Given the description of an element on the screen output the (x, y) to click on. 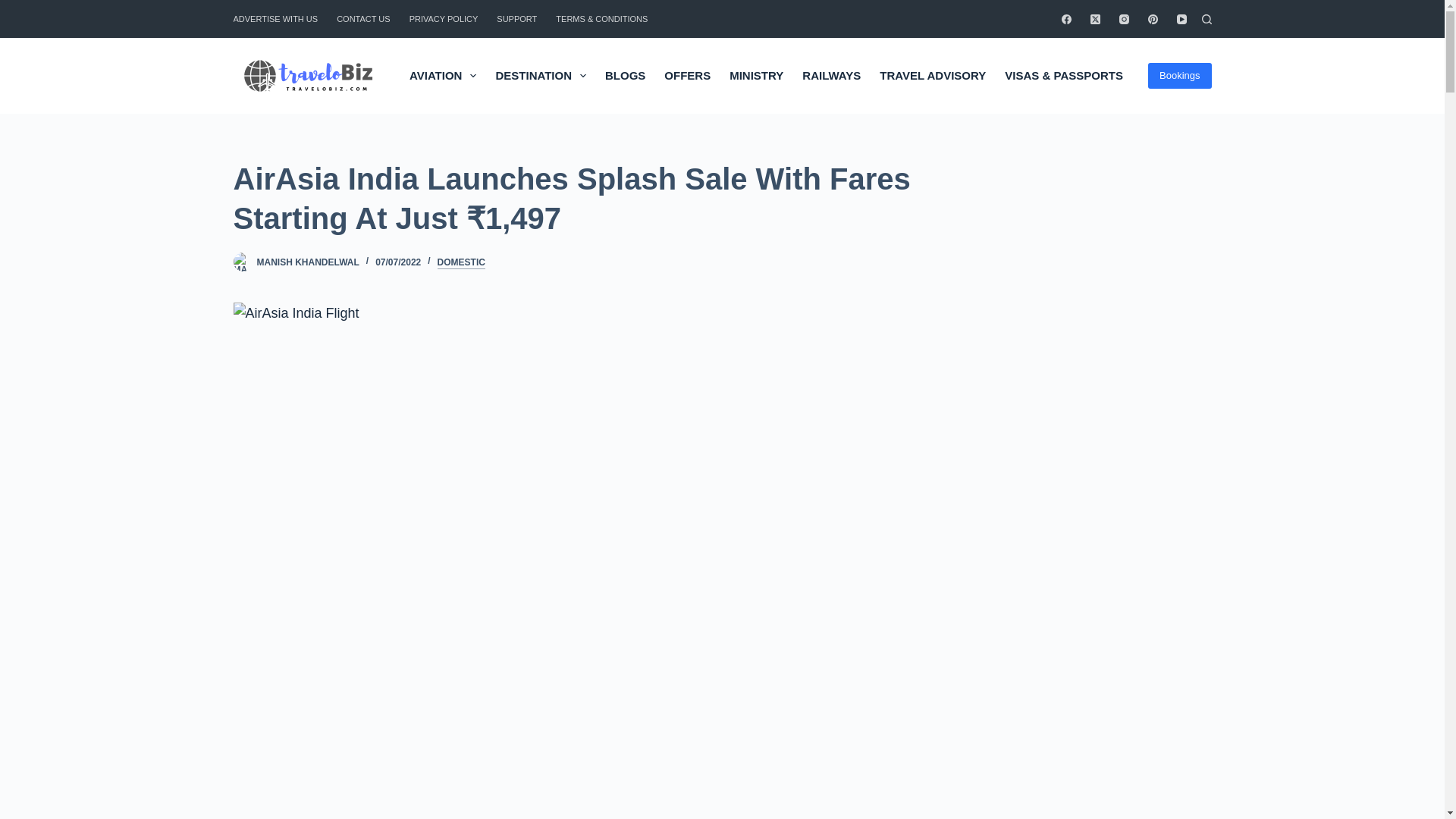
Posts by Manish Khandelwal (307, 262)
Skip to content (15, 7)
ADVERTISE WITH US (279, 18)
CONTACT US (363, 18)
PRIVACY POLICY (442, 18)
SUPPORT (517, 18)
